Given the description of an element on the screen output the (x, y) to click on. 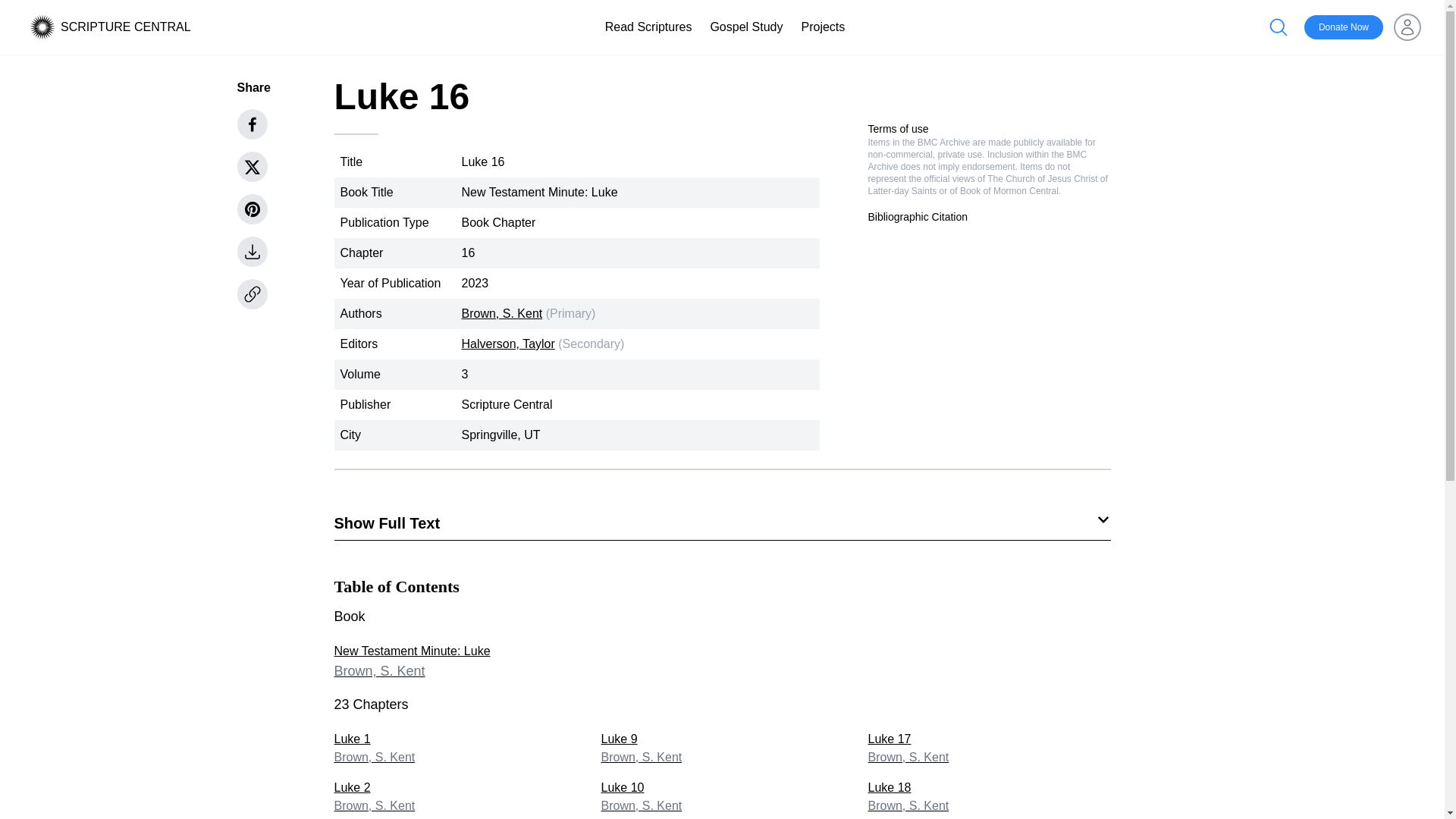
Donate Now (1343, 27)
Gospel Study (746, 27)
Read Scriptures (649, 26)
Halverson, Taylor (454, 796)
Gospel Study (507, 343)
Projects (746, 26)
SCRIPTURE CENTRAL (822, 26)
Brown, S. Kent (721, 748)
